Given the description of an element on the screen output the (x, y) to click on. 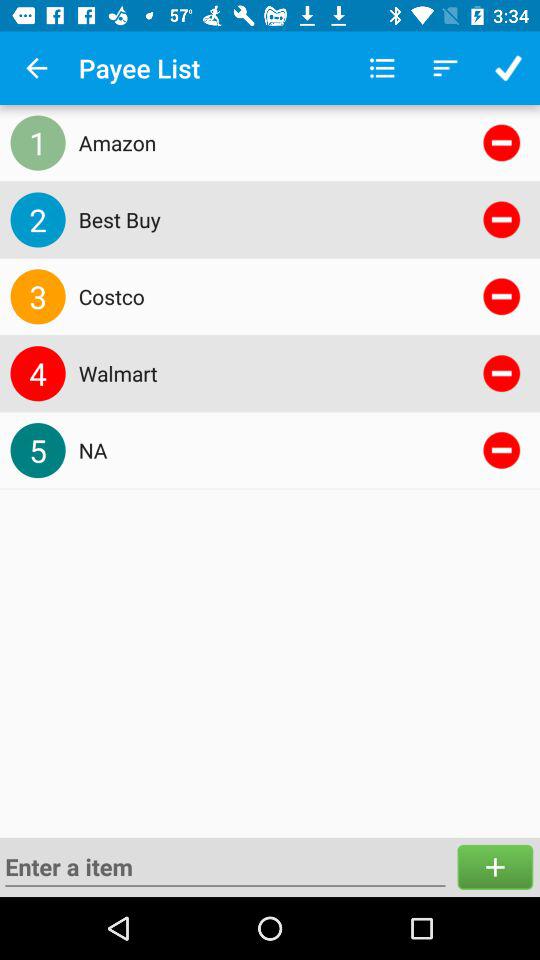
delete (501, 450)
